Given the description of an element on the screen output the (x, y) to click on. 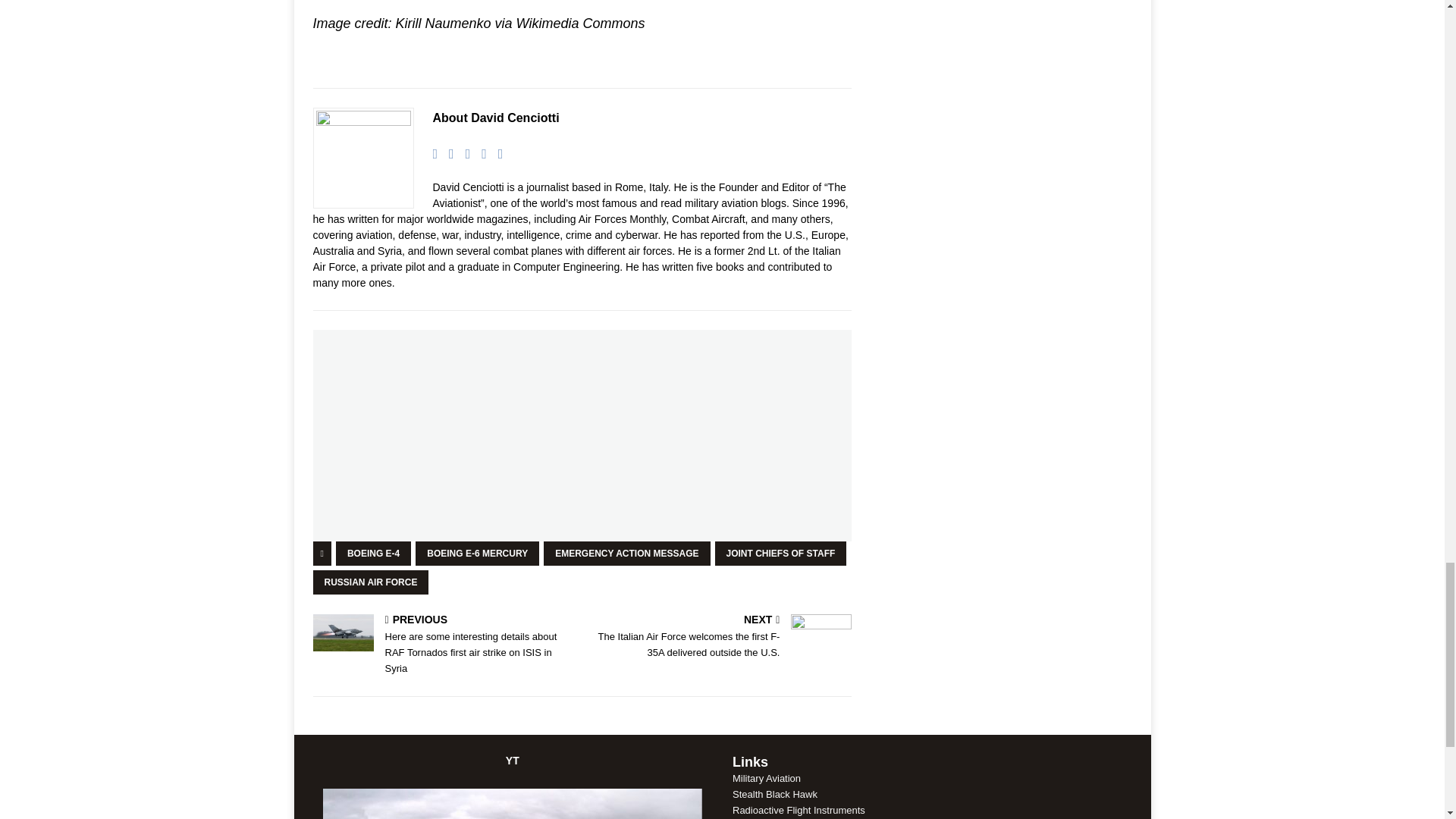
Follow David Cenciotti on Twitter (462, 153)
Follow David Cenciotti on instagram (494, 153)
Follow David Cenciotti on Facebook (446, 153)
Follow David Cenciotti on LinkedIn (478, 153)
